Given the description of an element on the screen output the (x, y) to click on. 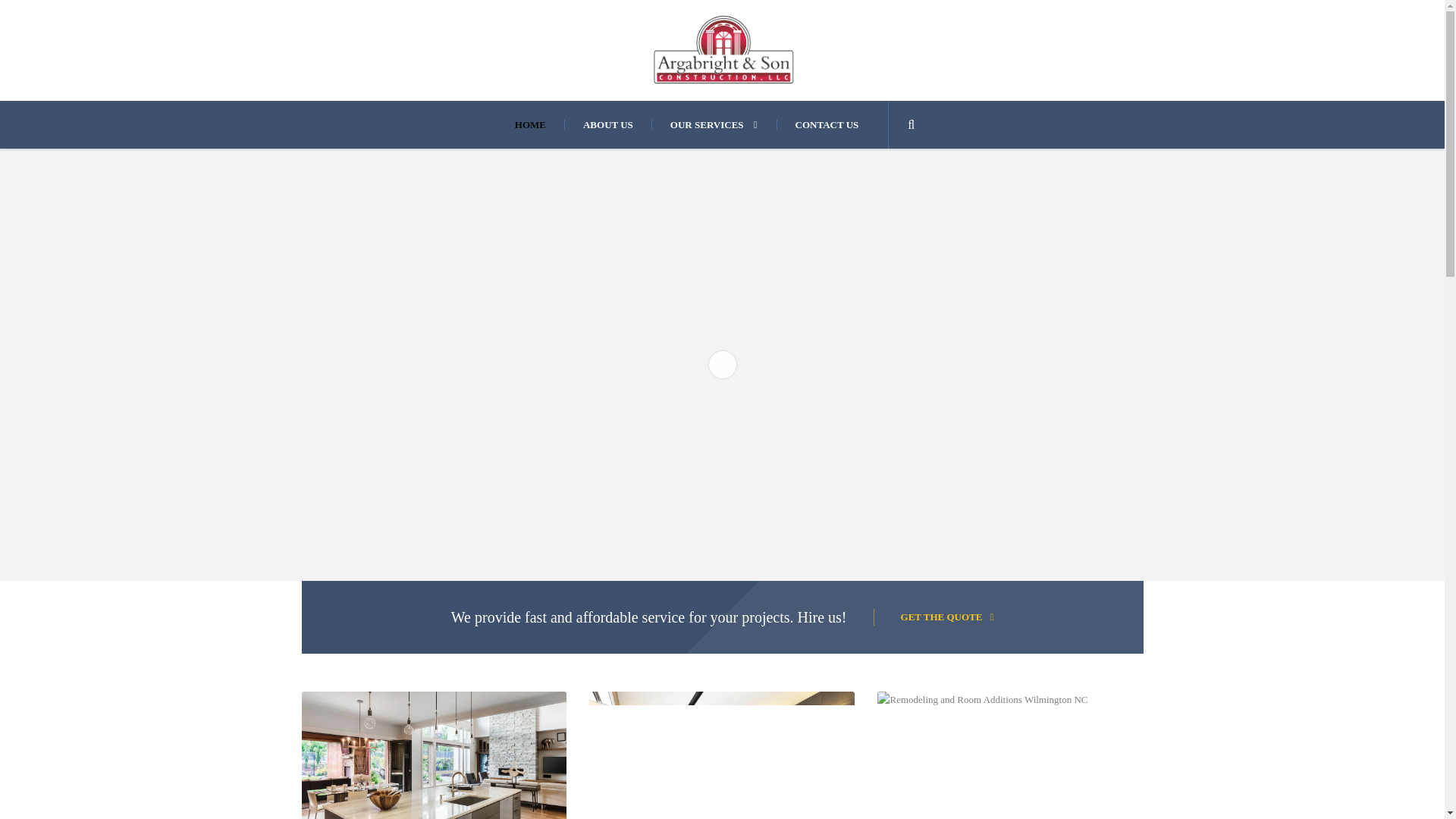
OUR SERVICES (713, 124)
CONTACT US (826, 124)
ABOUT US (607, 124)
GET THE QUOTE (933, 617)
HOME (539, 124)
